Given the description of an element on the screen output the (x, y) to click on. 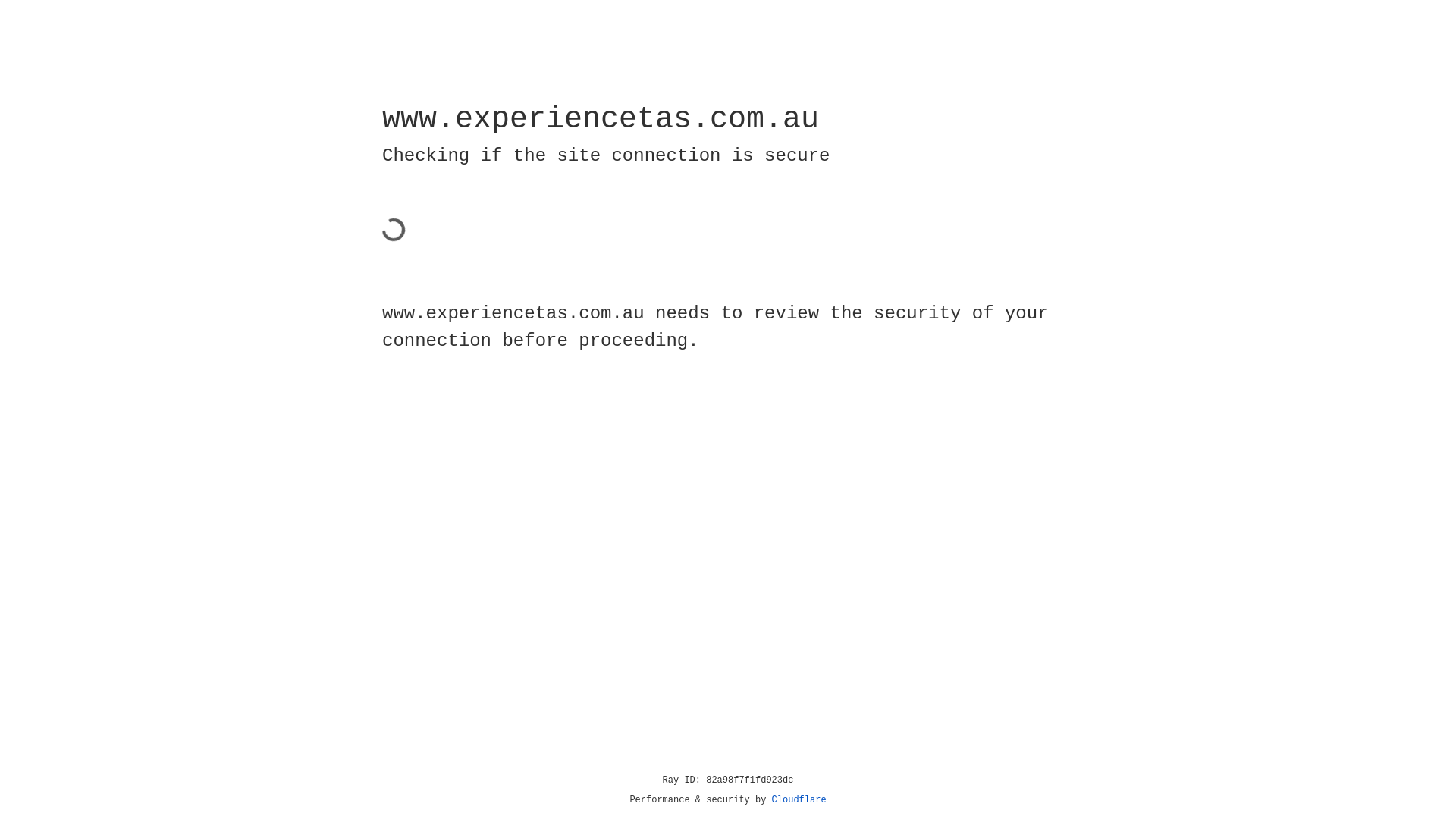
Cloudflare Element type: text (798, 799)
